Given the description of an element on the screen output the (x, y) to click on. 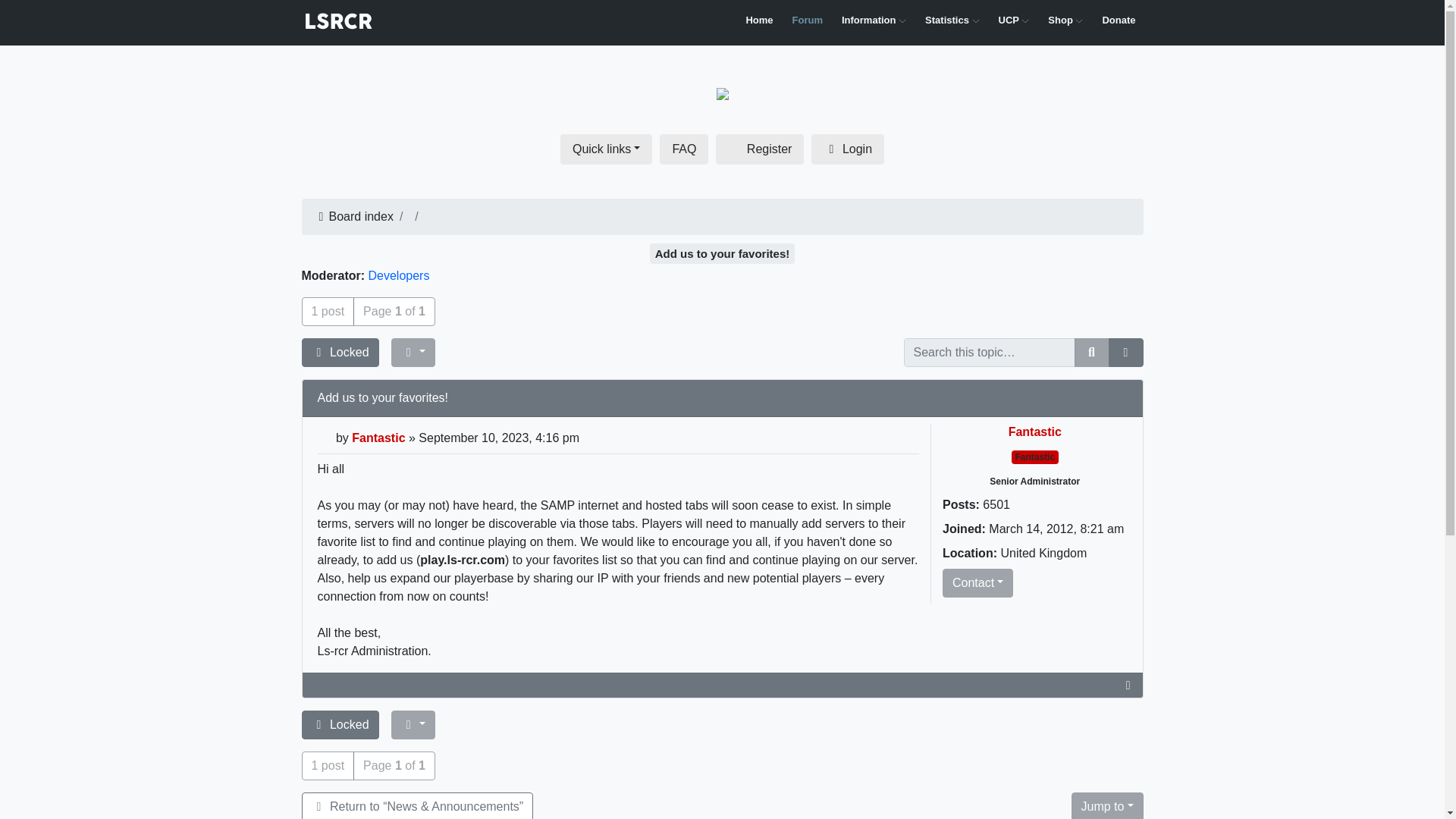
Donate (1118, 19)
UCP (1013, 19)
Topic tools (413, 352)
Quick links (606, 149)
Shop (1065, 19)
Forum (806, 19)
Jump to (1106, 805)
Statistics (952, 19)
Information (874, 19)
Topic tools (413, 724)
Home (759, 19)
Frequently Asked Questions (683, 149)
